Given the description of an element on the screen output the (x, y) to click on. 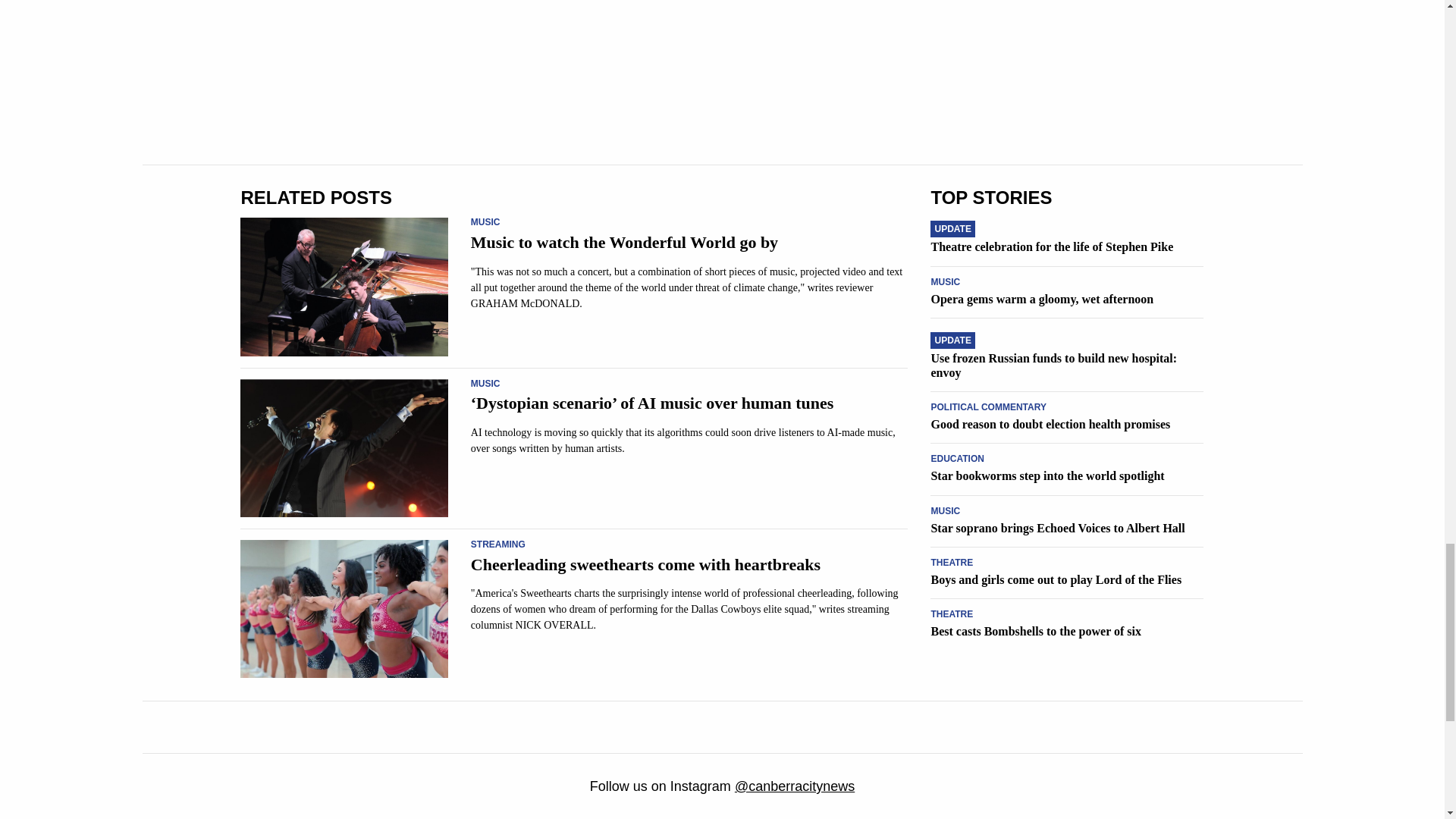
Comment Form (573, 67)
